Given the description of an element on the screen output the (x, y) to click on. 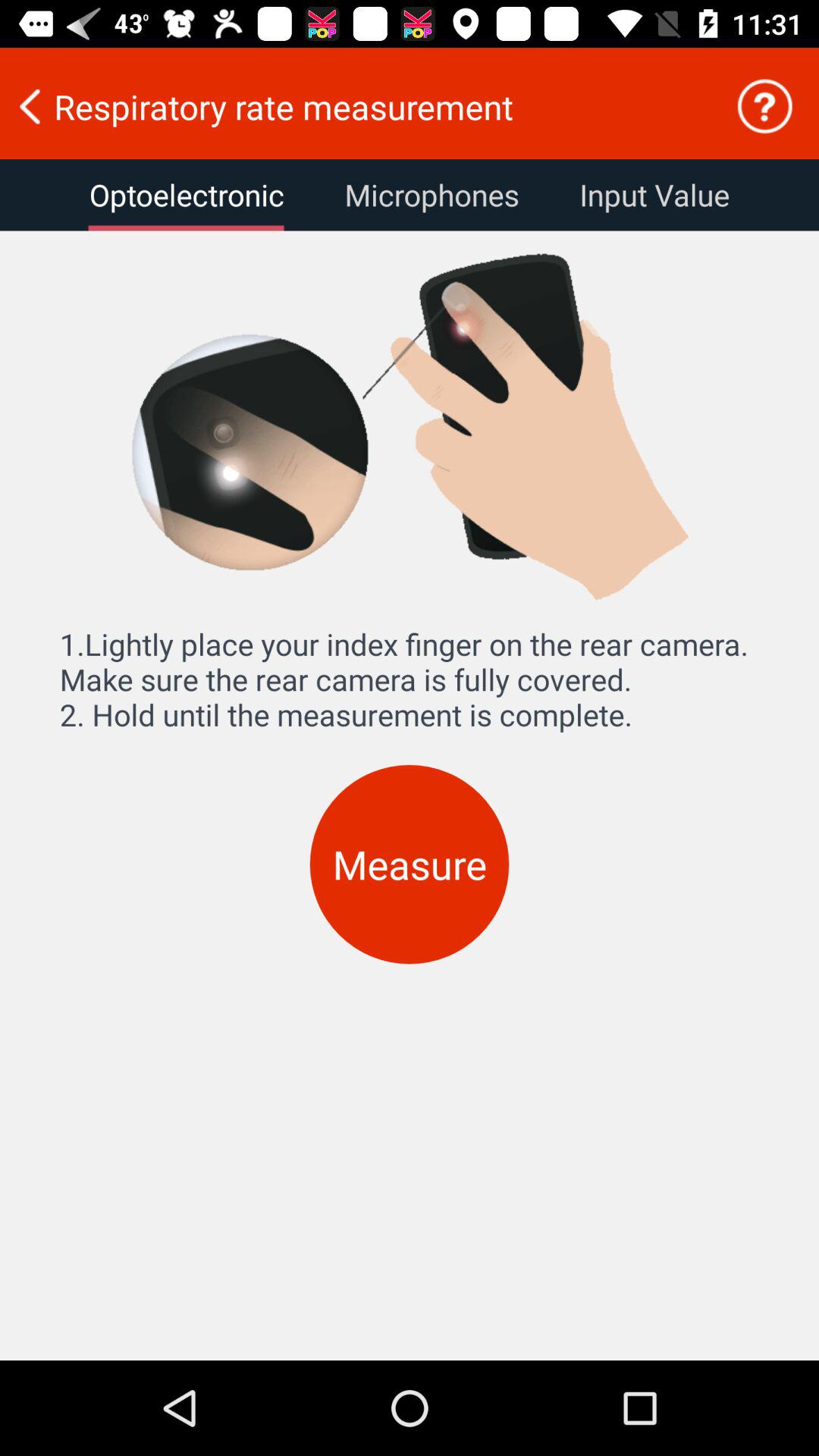
press the icon below respiratory rate measurement (186, 194)
